Given the description of an element on the screen output the (x, y) to click on. 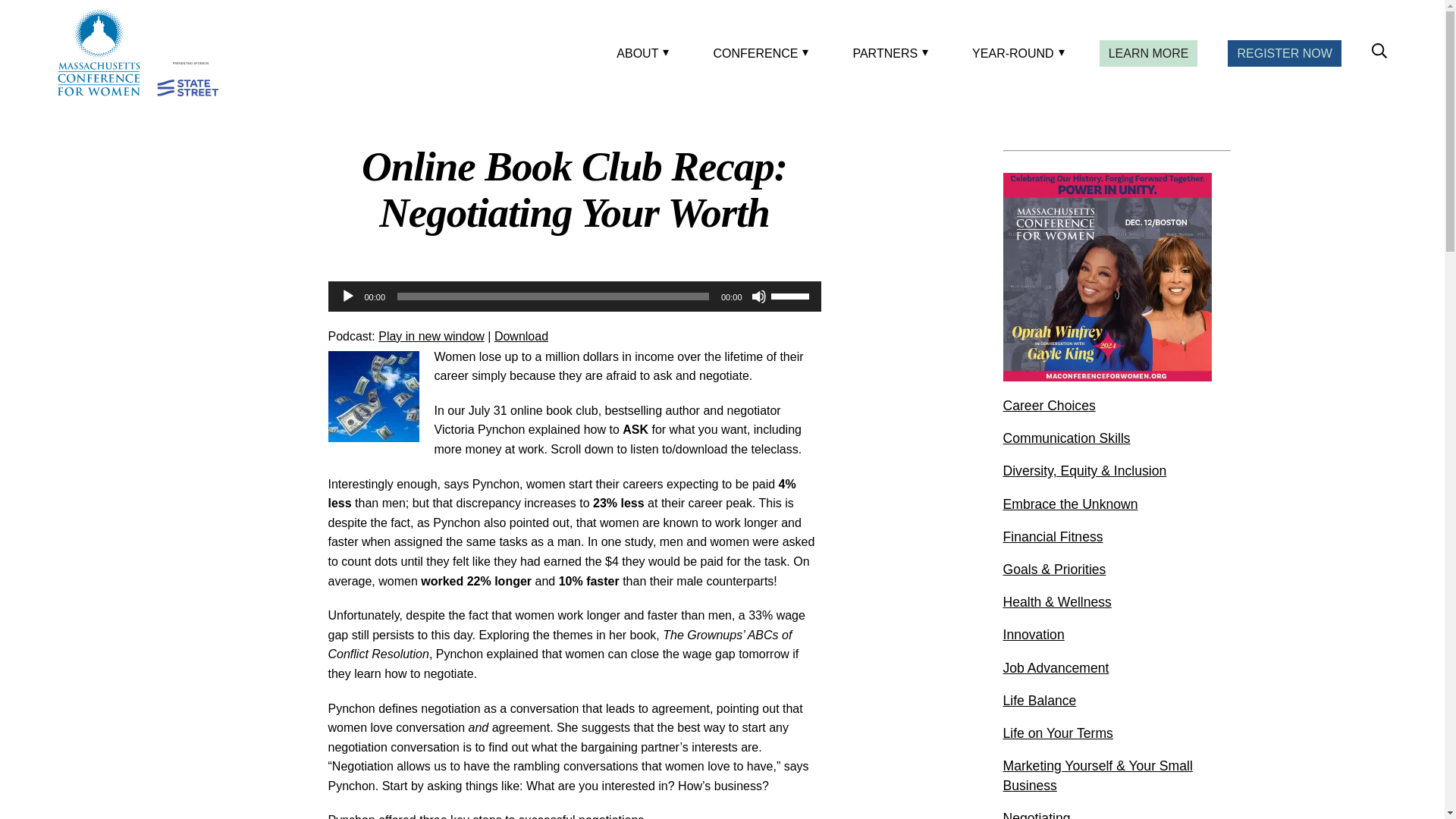
Download (521, 336)
Play in new window (431, 336)
CONFERENCE (757, 53)
Mute (758, 296)
YEAR-ROUND (1015, 53)
REGISTER NOW (1283, 53)
PARTNERS (888, 53)
ABOUT (639, 53)
LEARN MORE (1148, 53)
Play (347, 296)
